Given the description of an element on the screen output the (x, y) to click on. 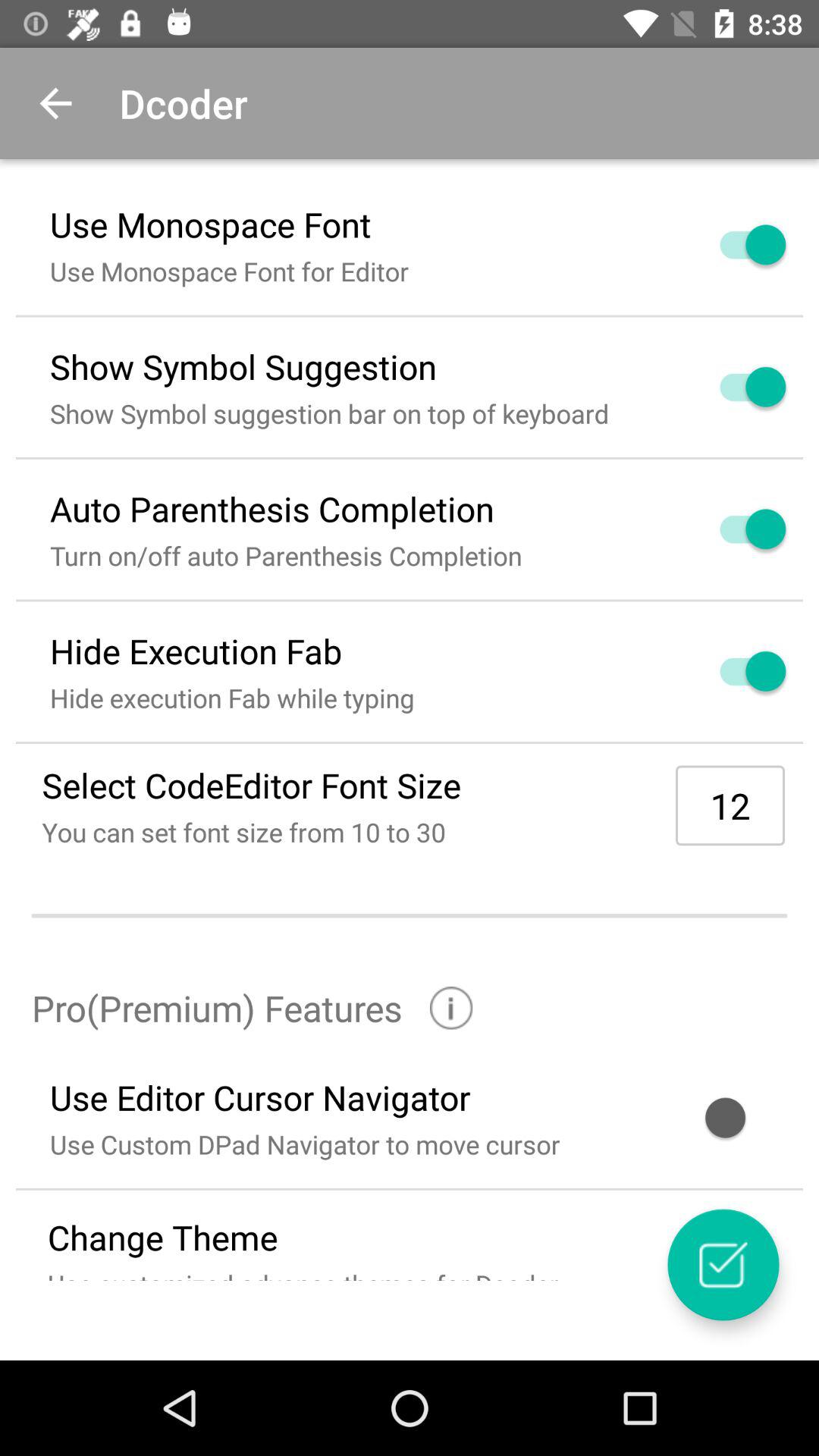
turn hide execution fab off (734, 671)
